Given the description of an element on the screen output the (x, y) to click on. 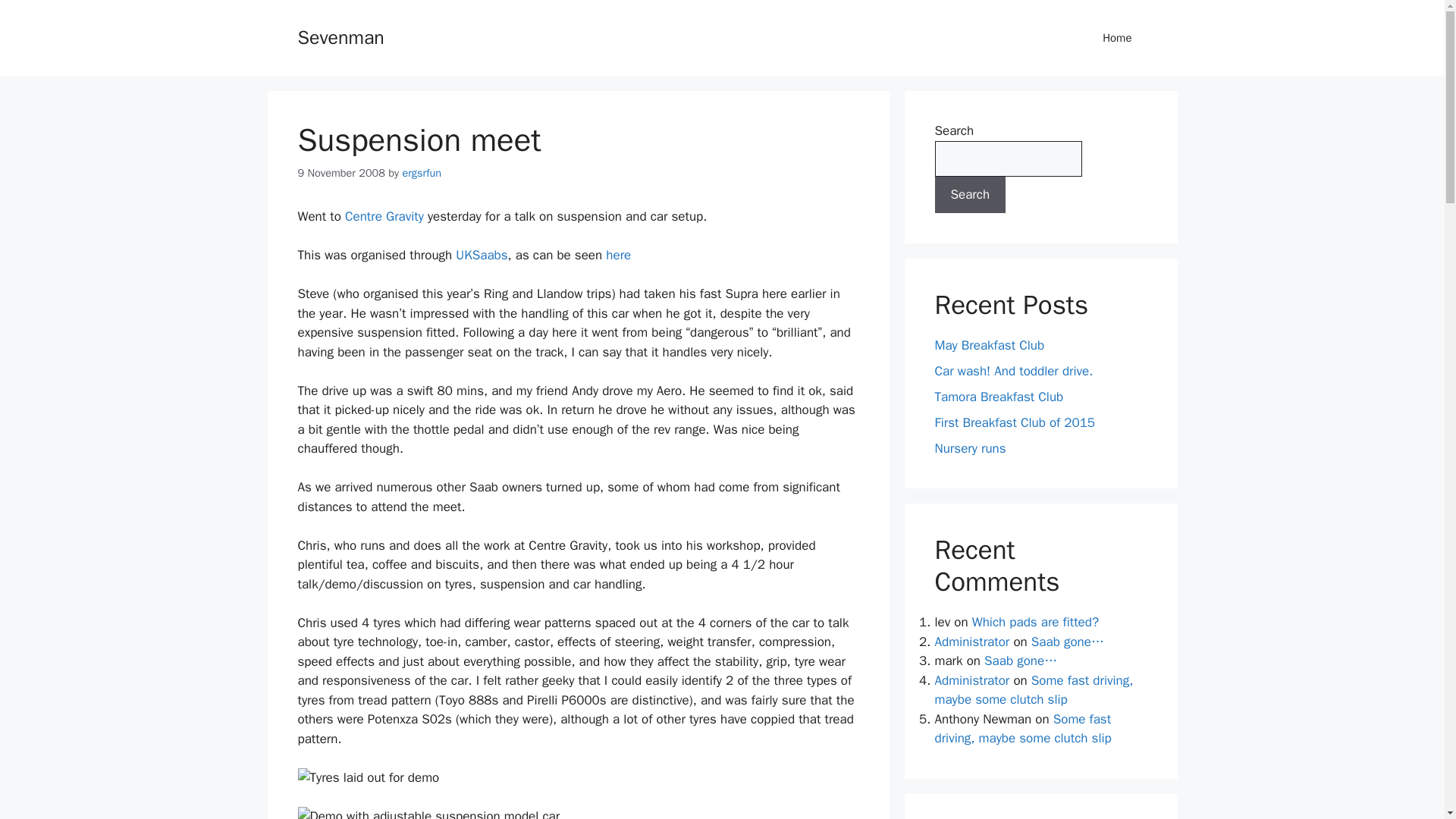
UKSaabs (480, 254)
Car wash! And toddler drive. (1013, 370)
Search (970, 194)
Some fast driving, maybe some clutch slip (1033, 689)
Sevenman (340, 37)
View all posts by ergsrfun (421, 172)
Tamora Breakfast Club (998, 396)
Administrator (971, 679)
Home (1117, 37)
ergsrfun (421, 172)
